Given the description of an element on the screen output the (x, y) to click on. 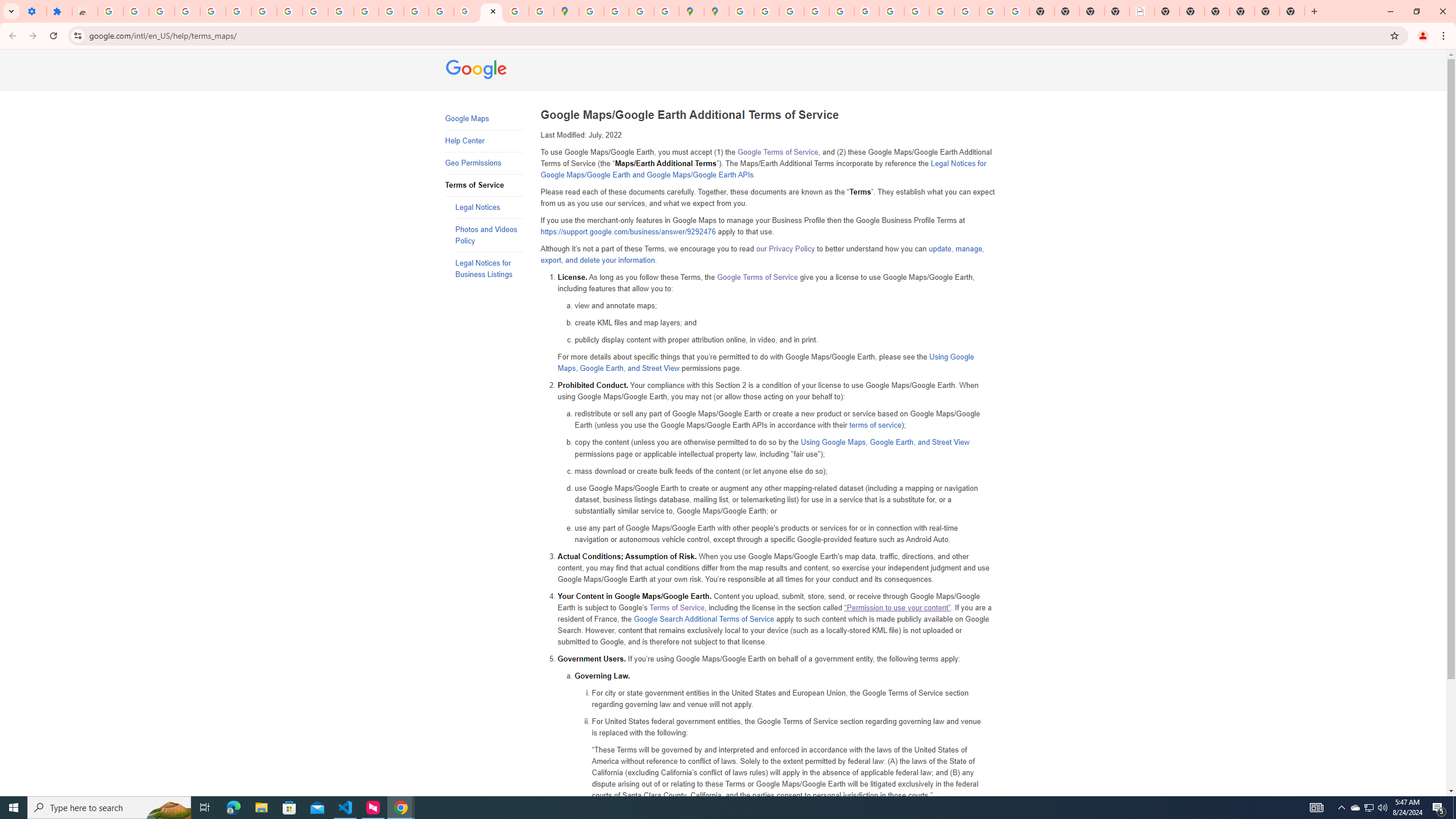
Sign in - Google Accounts (740, 11)
